Given the description of an element on the screen output the (x, y) to click on. 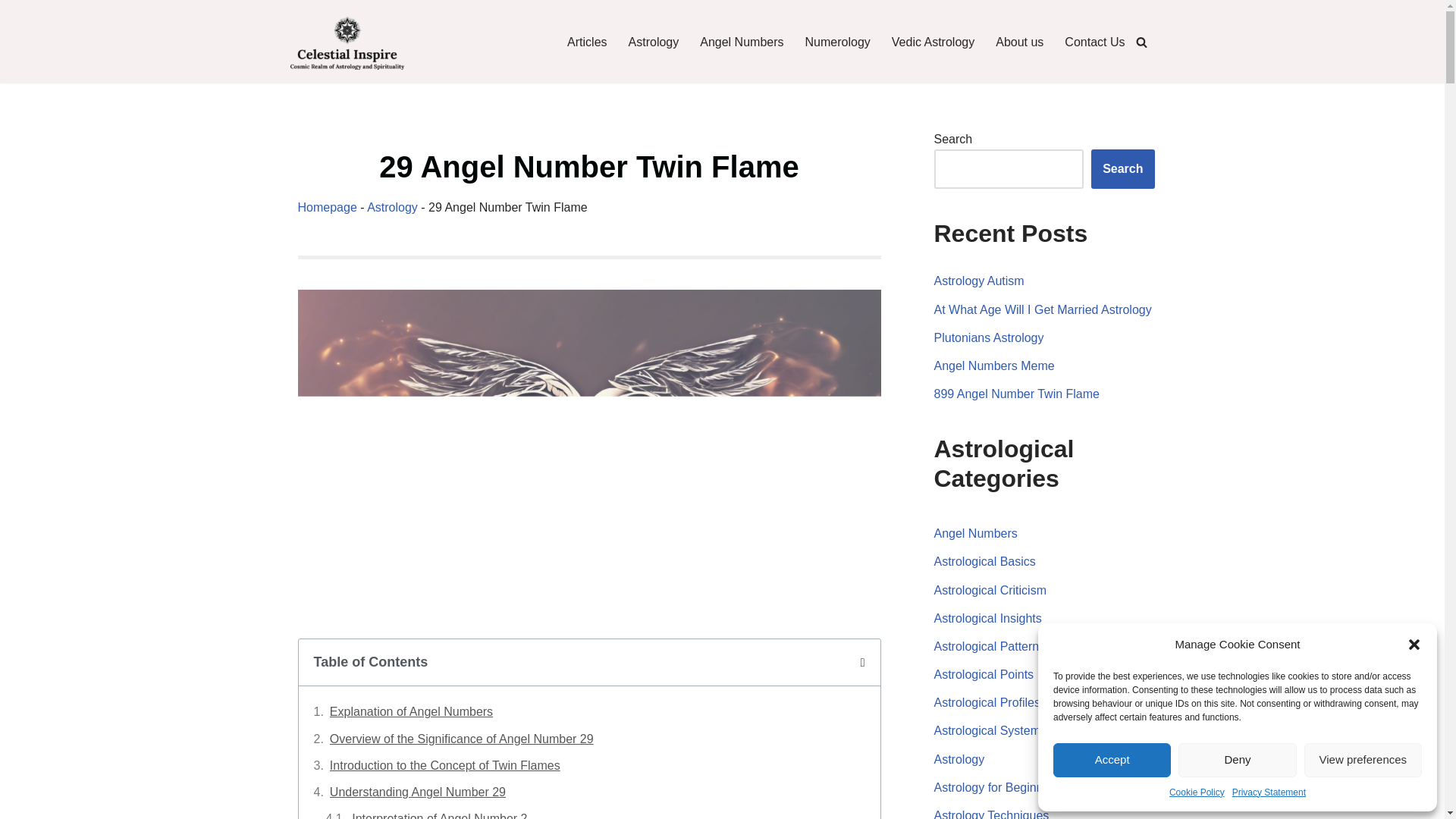
Skip to content (11, 31)
Privacy Statement (1268, 792)
Articles (587, 41)
Astrology (391, 206)
View preferences (1363, 759)
Accept (1111, 759)
Explanation of Angel Numbers (411, 711)
Astrology (653, 41)
Vedic Astrology (932, 41)
Contact Us (1094, 41)
